Given the description of an element on the screen output the (x, y) to click on. 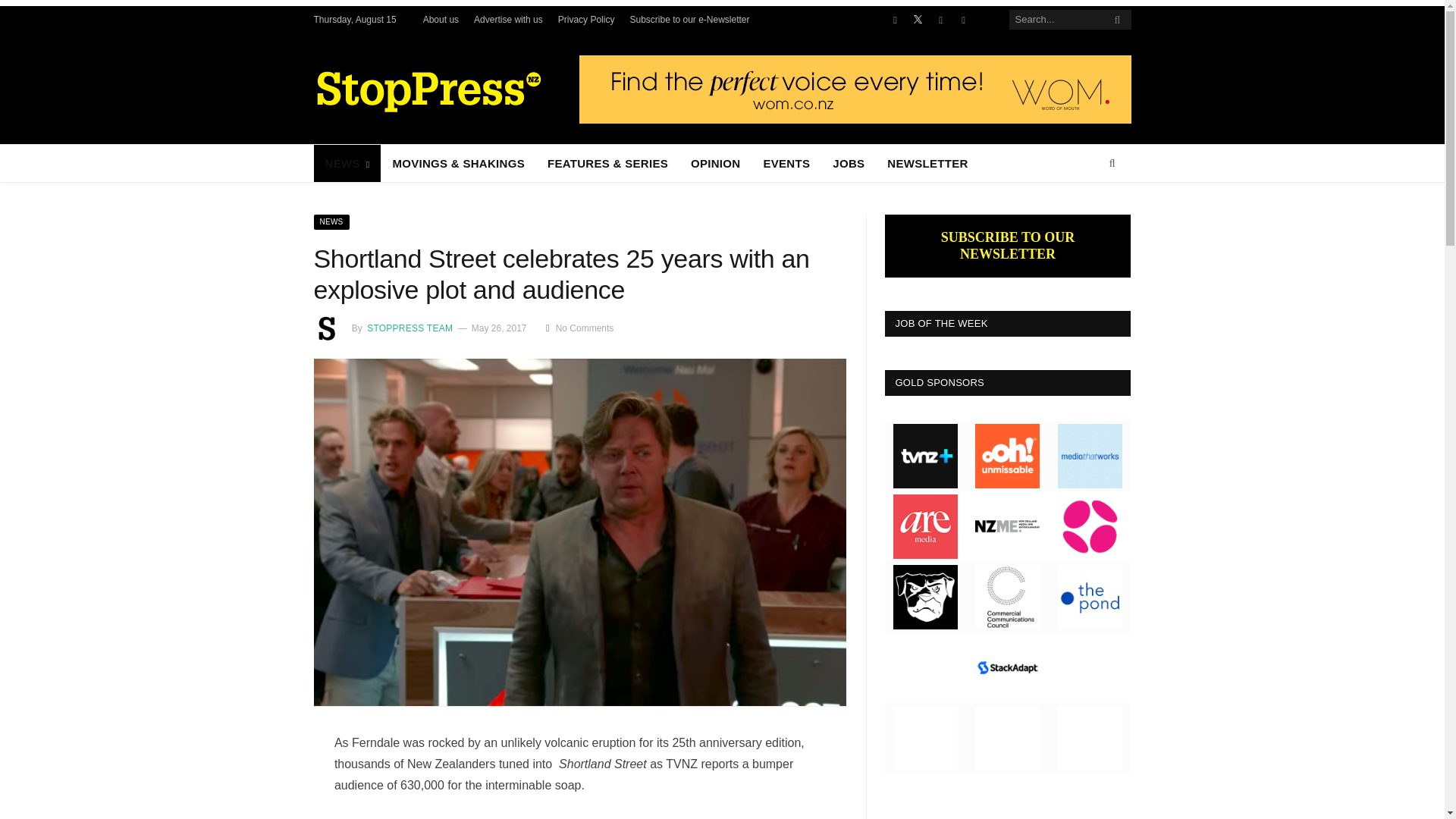
News (331, 221)
YouTube (940, 20)
Advertise with us (508, 19)
JOBS (848, 162)
Facebook (894, 20)
NEWS (347, 162)
Privacy Policy (585, 19)
STOPPRESS TEAM (408, 327)
Subscribe to our e-Newsletter (688, 19)
EVENTS (786, 162)
